Given the description of an element on the screen output the (x, y) to click on. 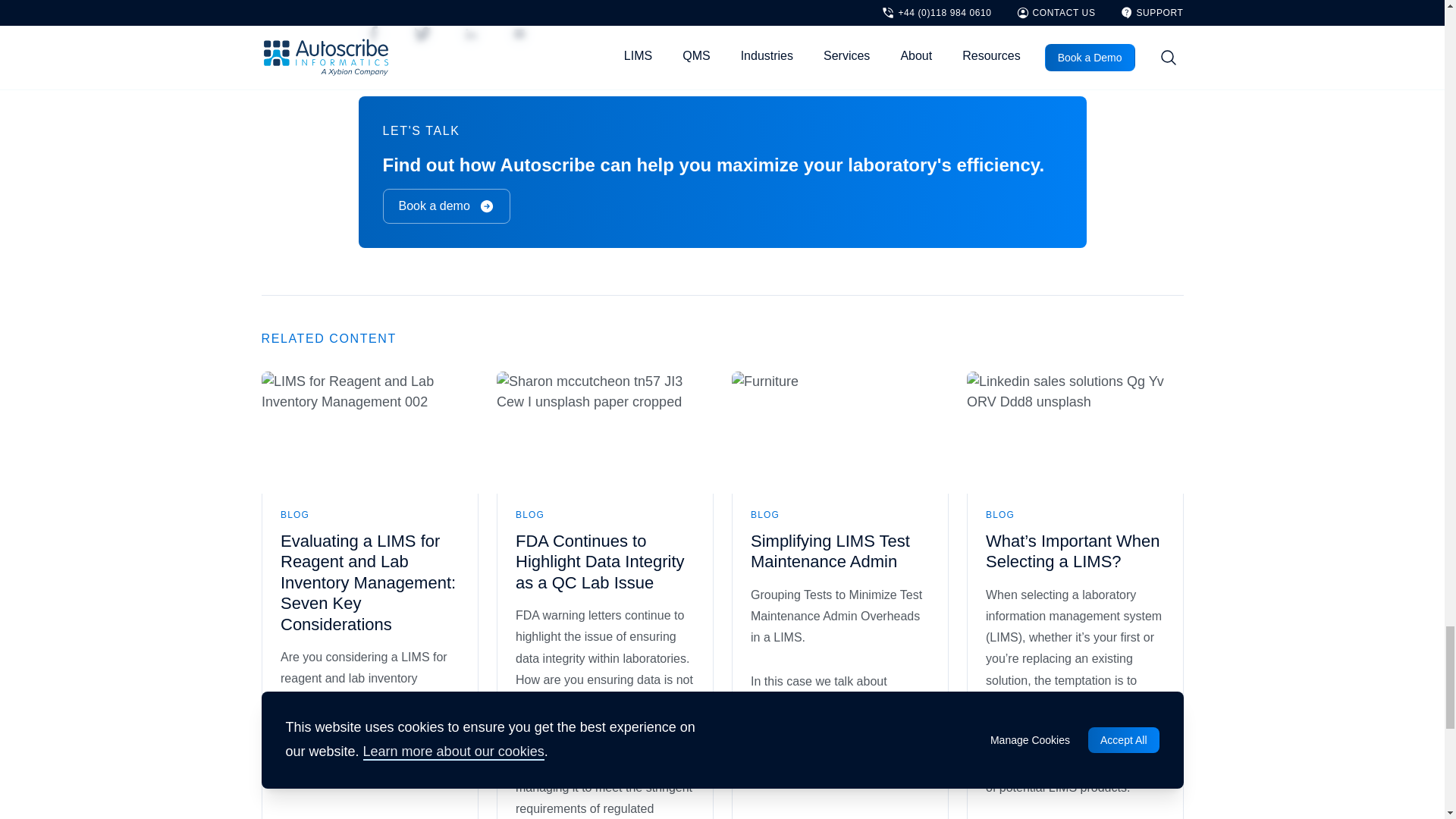
Save to Pocket (518, 33)
Share on Twitter (421, 33)
Share on LinkedIn (469, 33)
Share on Facebook (373, 33)
